Given the description of an element on the screen output the (x, y) to click on. 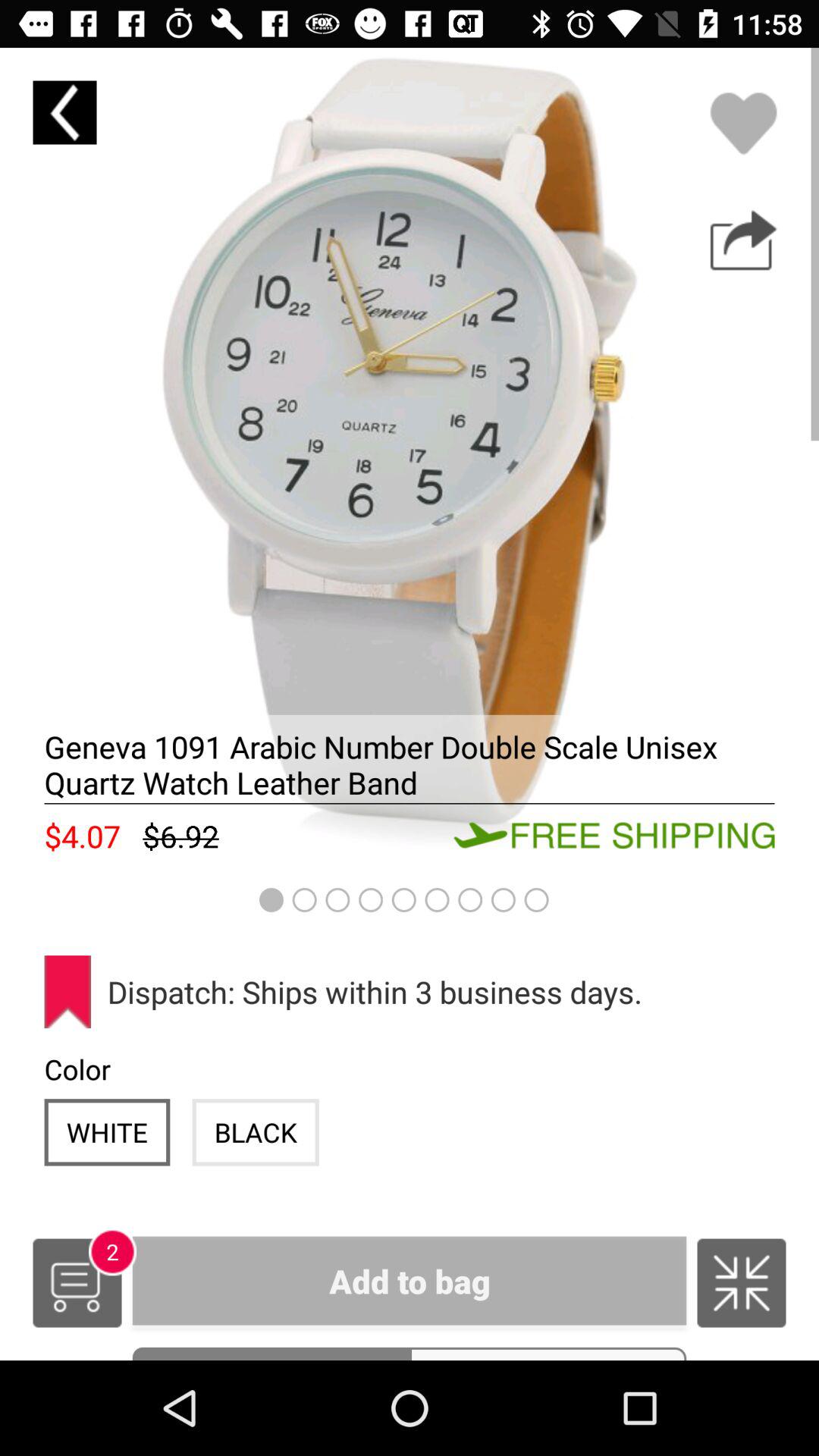
select icon below add to bag item (547, 1353)
